Given the description of an element on the screen output the (x, y) to click on. 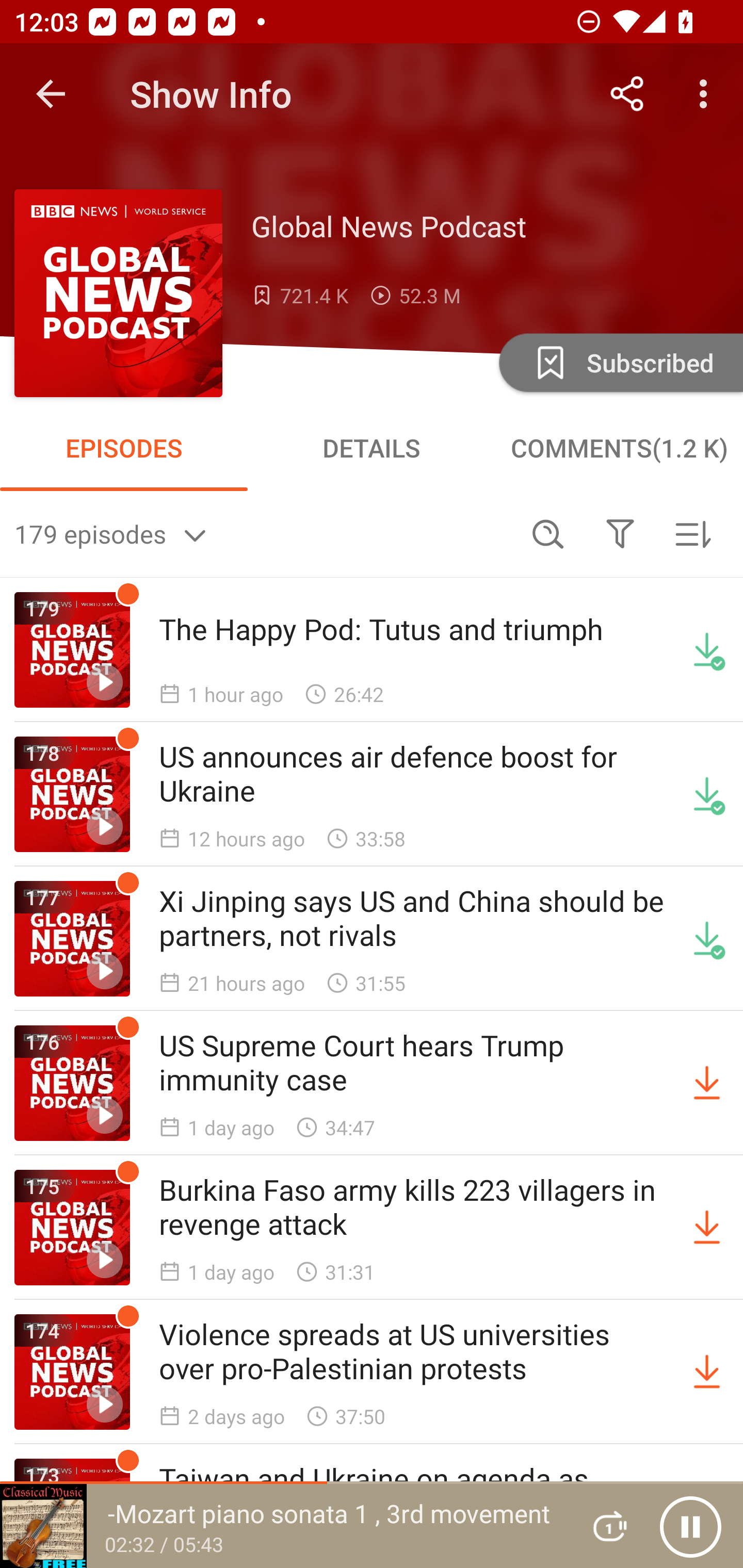
Navigate up (50, 93)
Share (626, 93)
More options (706, 93)
Unsubscribe Subscribed (619, 361)
EPISODES (123, 447)
DETAILS (371, 447)
COMMENTS(1.2 K) (619, 447)
179 episodes  (262, 533)
 Search (547, 533)
 (619, 533)
 Sorted by newest first (692, 533)
Downloaded (706, 649)
Downloaded (706, 793)
Downloaded (706, 939)
Download (706, 1083)
Download (706, 1227)
Download (706, 1371)
Pause (690, 1526)
